Given the description of an element on the screen output the (x, y) to click on. 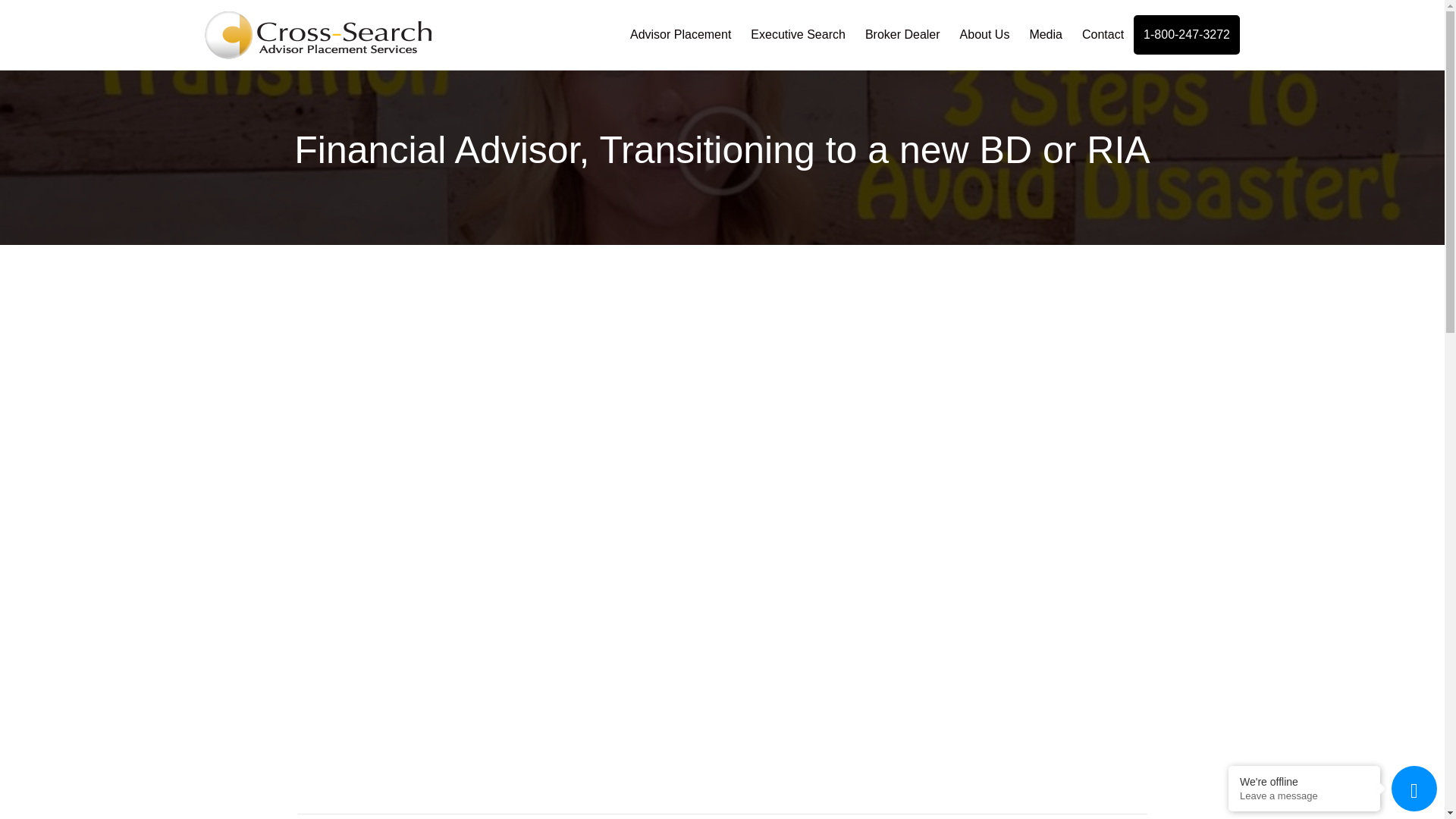
About Us (985, 34)
Broker Dealer (903, 34)
Advisor Placement (680, 34)
Executive Search (798, 34)
Leave a message (1304, 795)
We're offline (1305, 781)
Media (1045, 34)
1-800-247-3272 (1187, 34)
Contact (1102, 34)
